Given the description of an element on the screen output the (x, y) to click on. 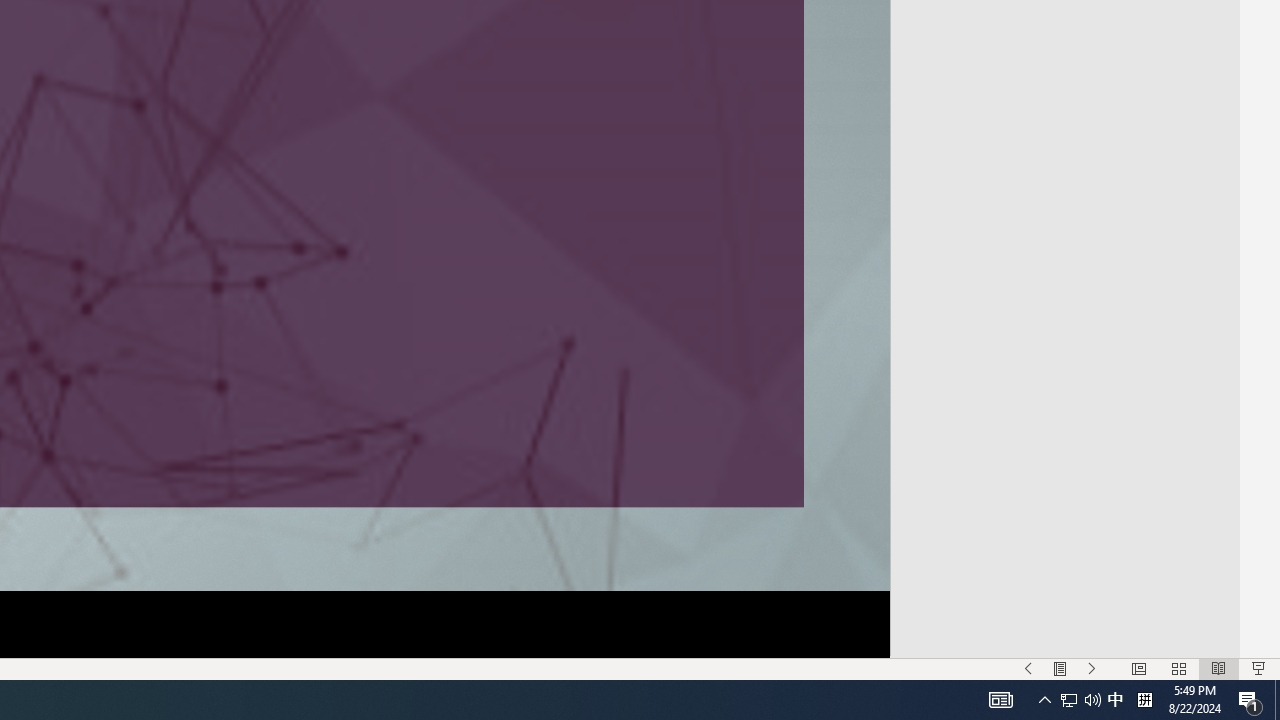
Slide Show Next On (1092, 668)
Slide Show Previous On (1028, 668)
Menu On (1060, 668)
